Given the description of an element on the screen output the (x, y) to click on. 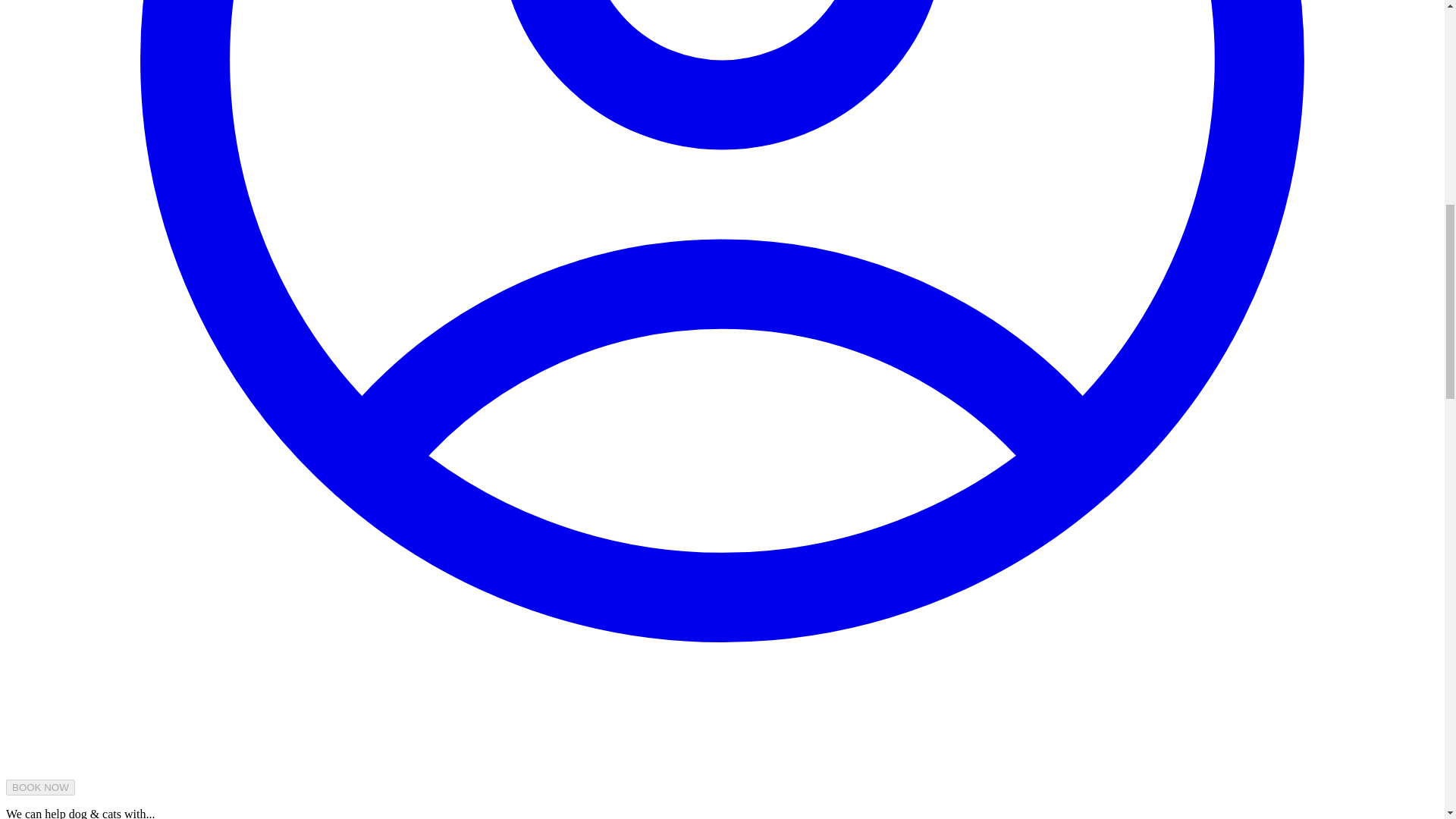
BOOK NOW (40, 787)
BOOK NOW (40, 786)
